Given the description of an element on the screen output the (x, y) to click on. 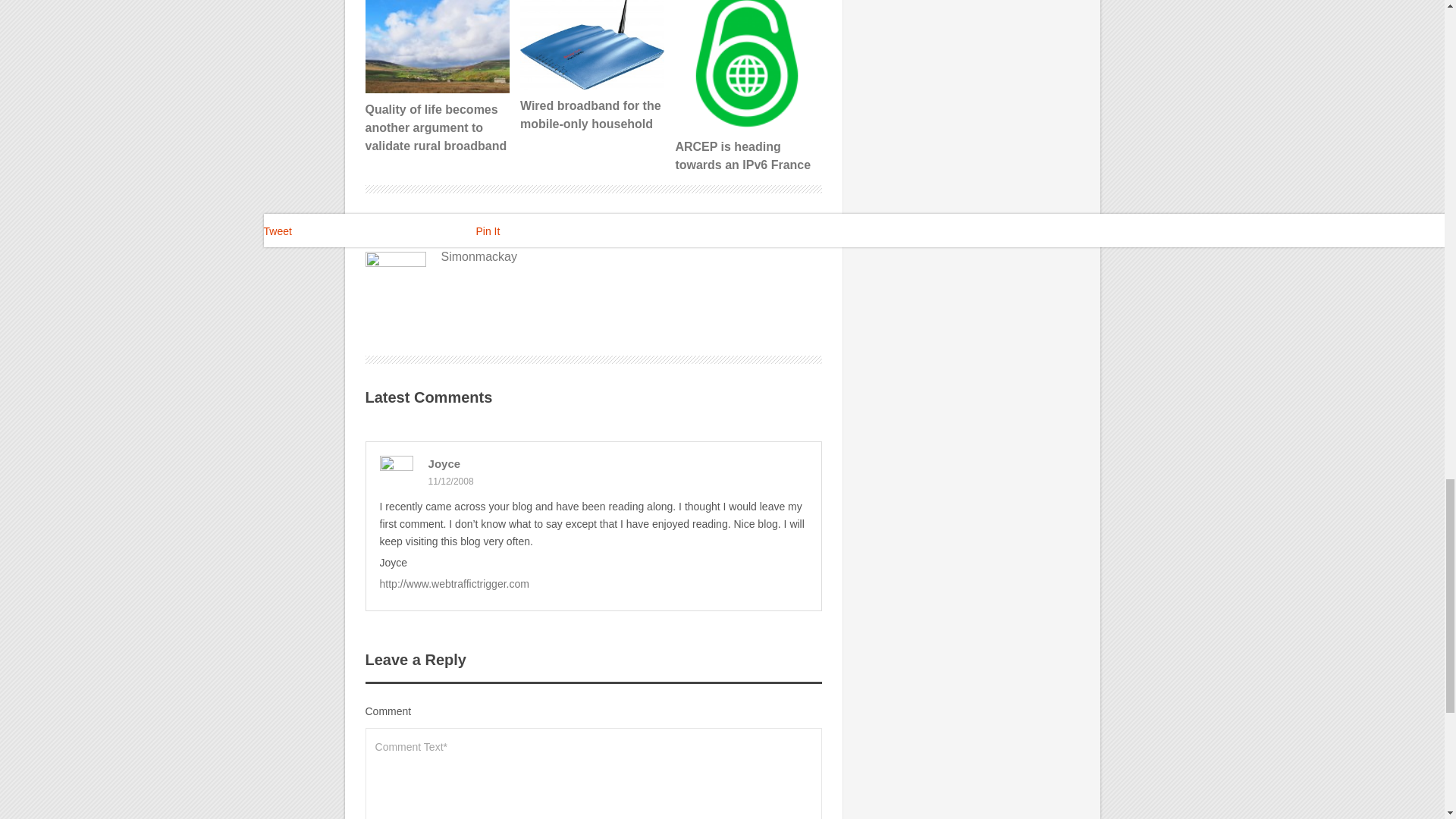
Wired broadband for the mobile-only household (591, 67)
Wired broadband for the mobile-only household (591, 45)
ARCEP is heading towards an IPv6 France (746, 65)
